Given the description of an element on the screen output the (x, y) to click on. 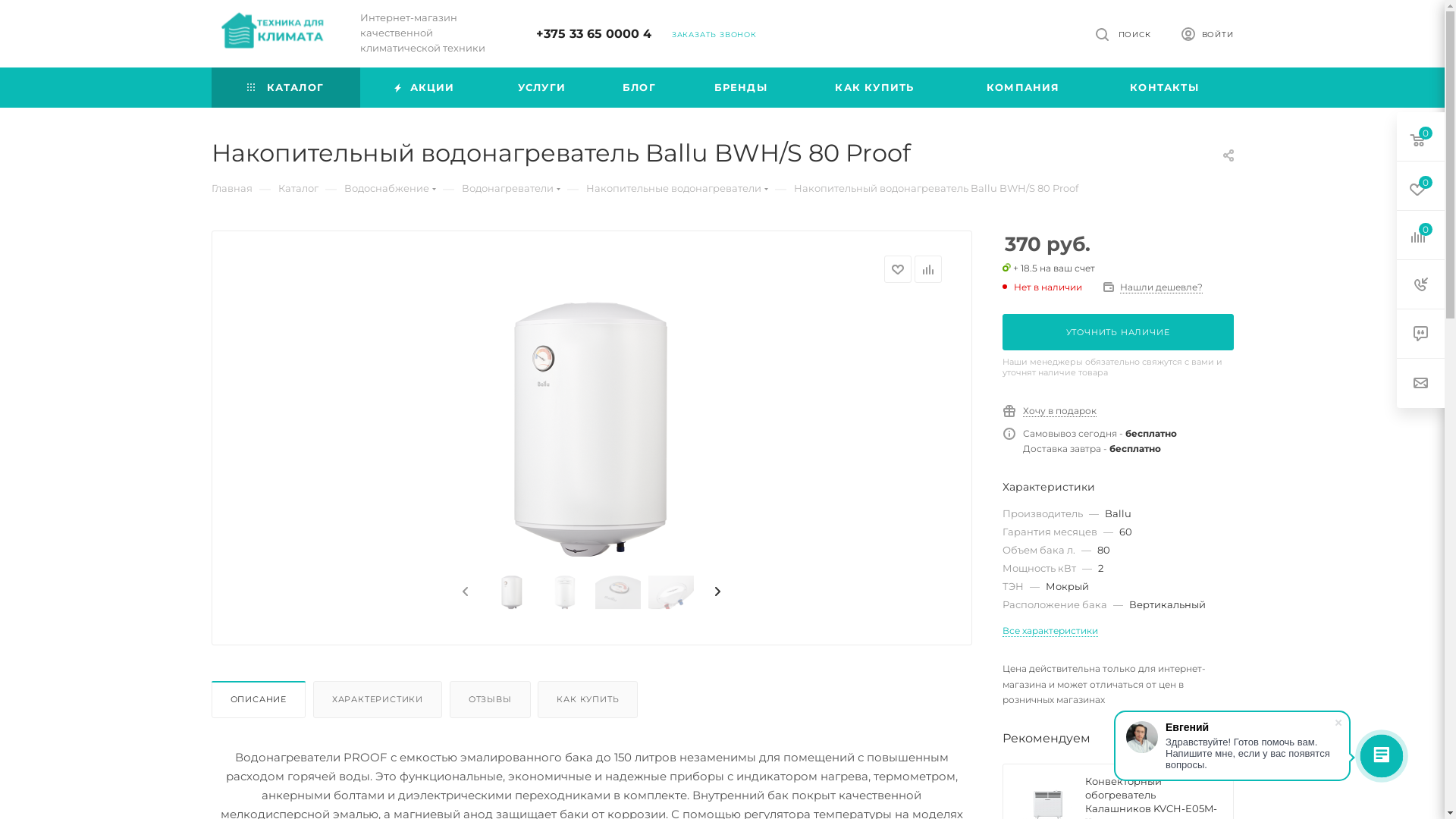
+375 33 65 0000 4 Element type: text (593, 33)
